Given the description of an element on the screen output the (x, y) to click on. 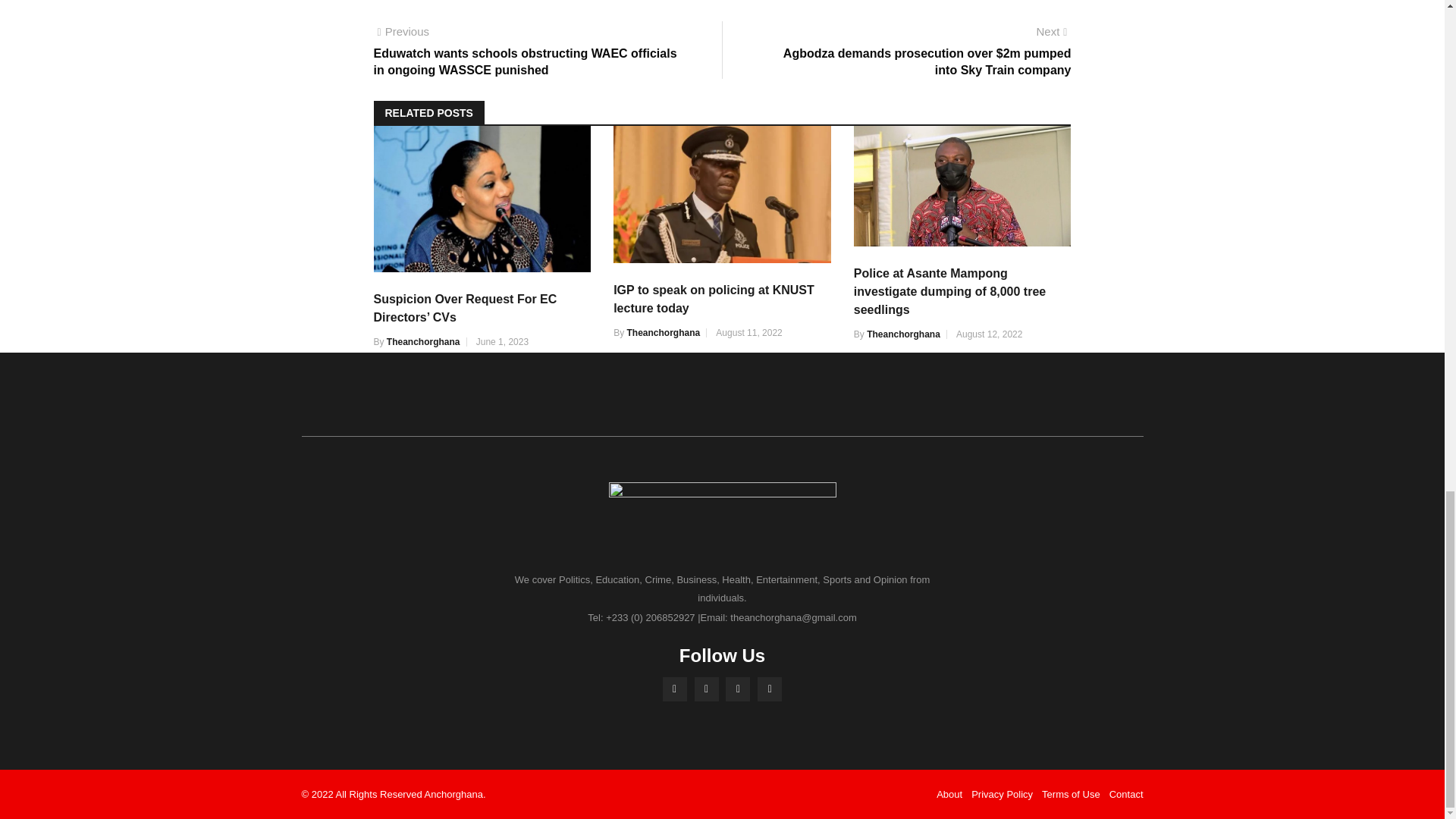
IGP to speak on policing at KNUST lecture today (712, 298)
Theanchorghana (663, 332)
Posts by theanchorghana (663, 332)
Posts by theanchorghana (903, 334)
Posts by theanchorghana (423, 341)
Theanchorghana (903, 334)
Theanchorghana (423, 341)
